Given the description of an element on the screen output the (x, y) to click on. 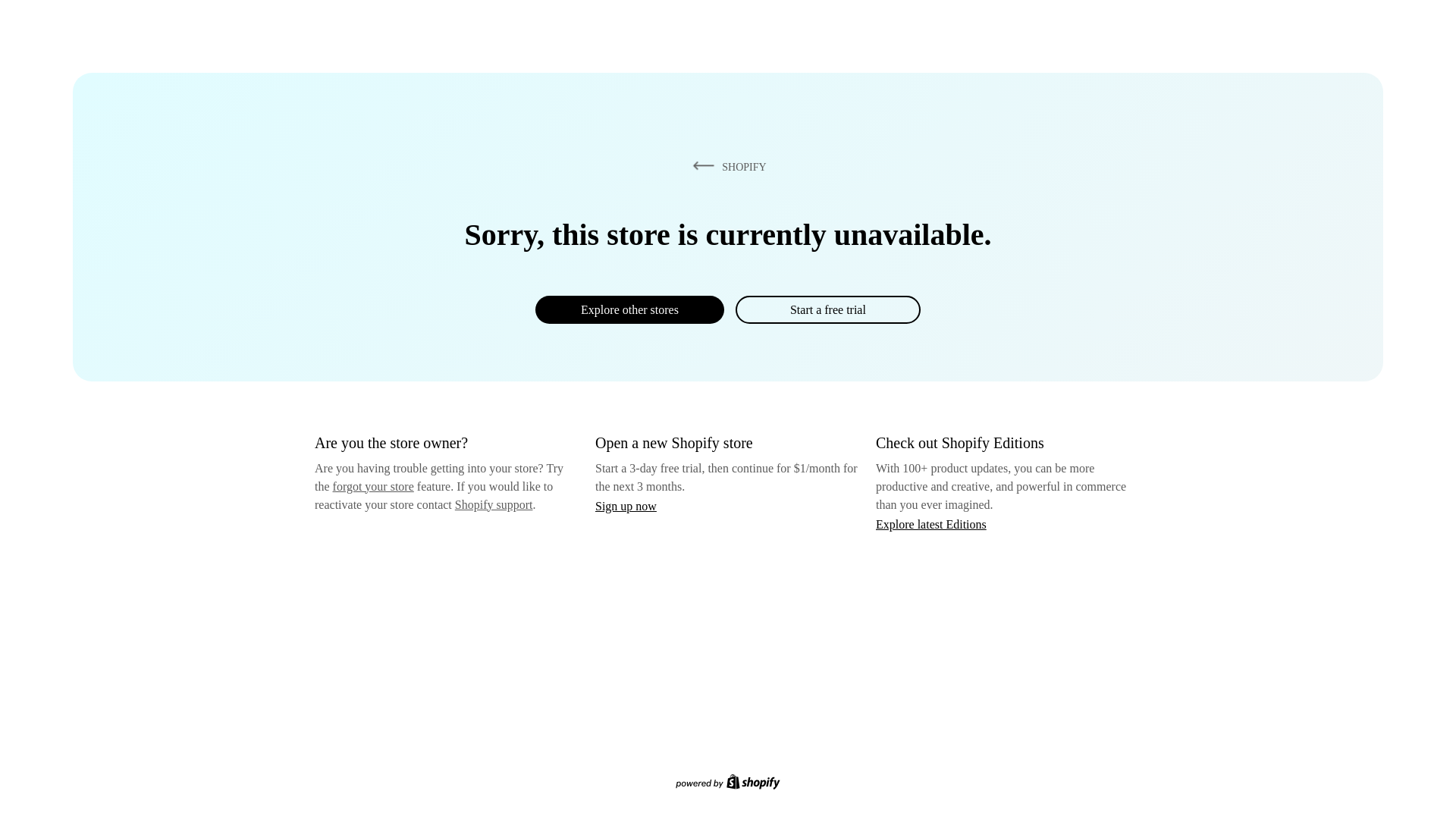
Explore latest Editions (931, 523)
forgot your store (373, 486)
Start a free trial (827, 309)
Explore other stores (629, 309)
SHOPIFY (726, 166)
Shopify support (493, 504)
Sign up now (625, 505)
